Given the description of an element on the screen output the (x, y) to click on. 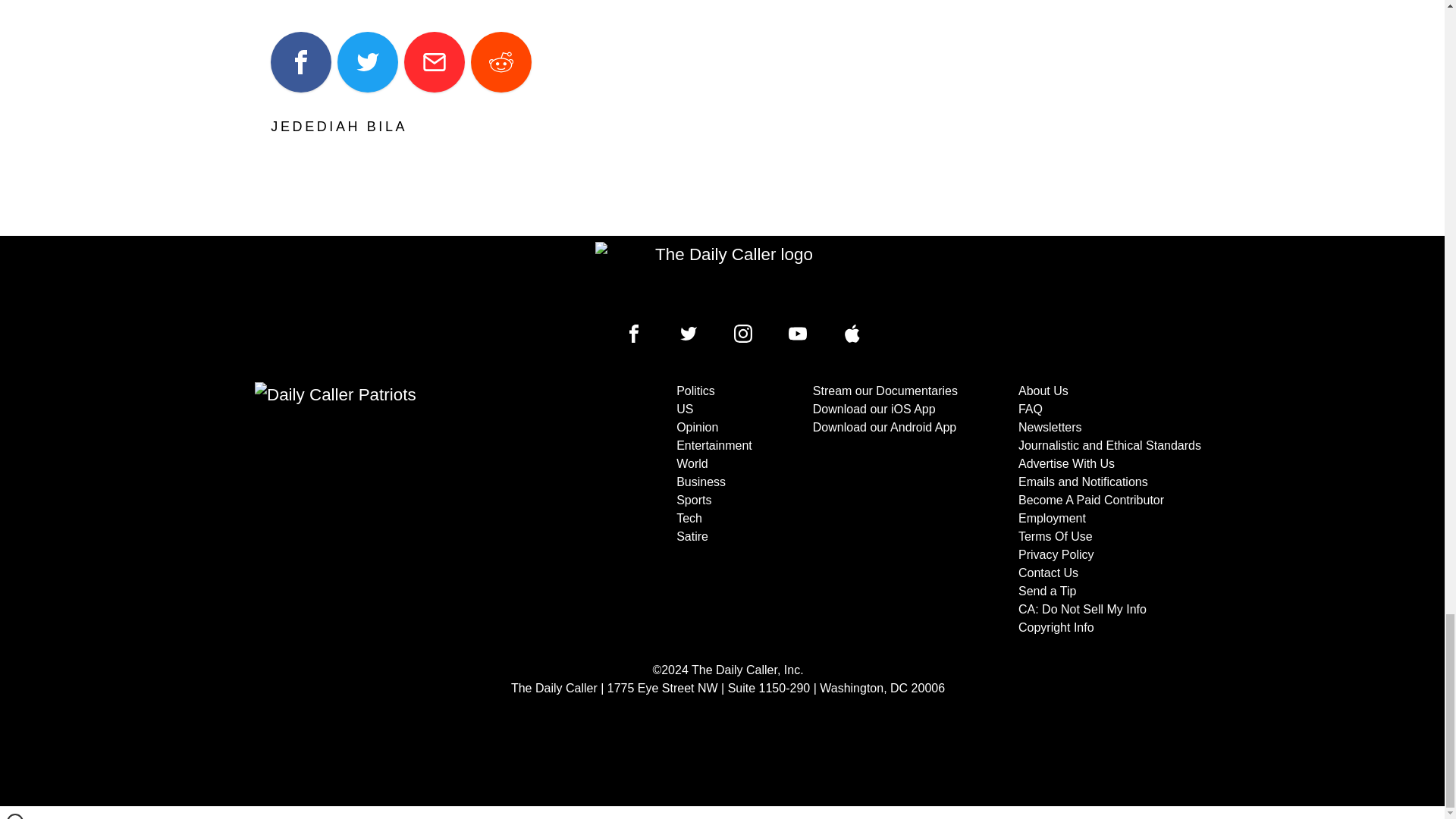
Subscribe to The Daily Caller (405, 509)
To home page (727, 276)
Daily Caller Facebook (633, 333)
Daily Caller Twitter (688, 333)
Daily Caller YouTube (852, 333)
Daily Caller Instagram (742, 333)
Daily Caller YouTube (797, 333)
